Given the description of an element on the screen output the (x, y) to click on. 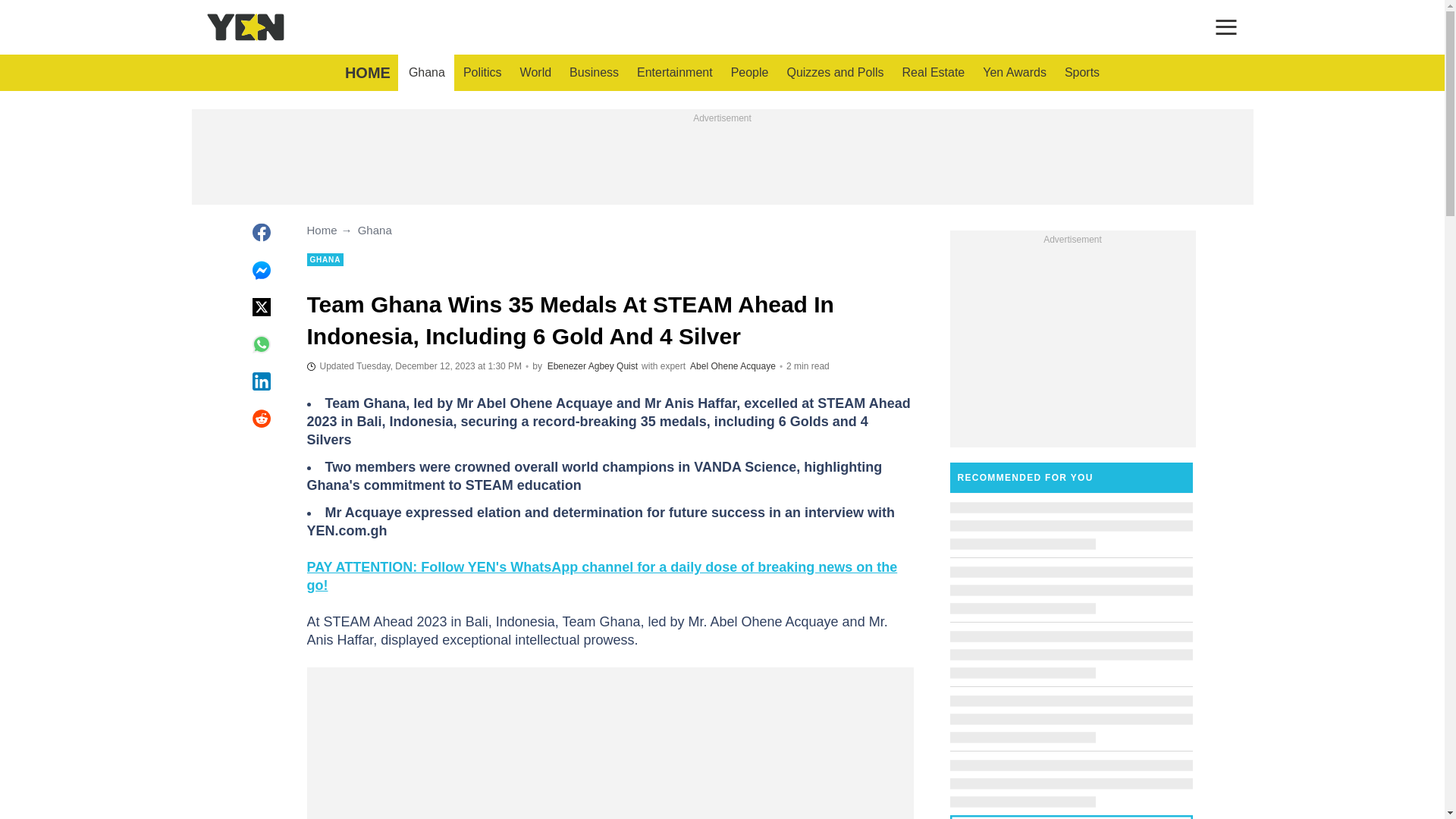
Politics (482, 72)
Quizzes and Polls (834, 72)
Ghana (426, 72)
2023-12-12T13:30:34Z (413, 366)
HOME (367, 72)
Real Estate (933, 72)
Expert page (733, 366)
Entertainment (674, 72)
People (749, 72)
Business (593, 72)
Author page (592, 366)
Sports (1081, 72)
WhatsApp Channel (600, 575)
World (535, 72)
Yen Awards (1014, 72)
